Given the description of an element on the screen output the (x, y) to click on. 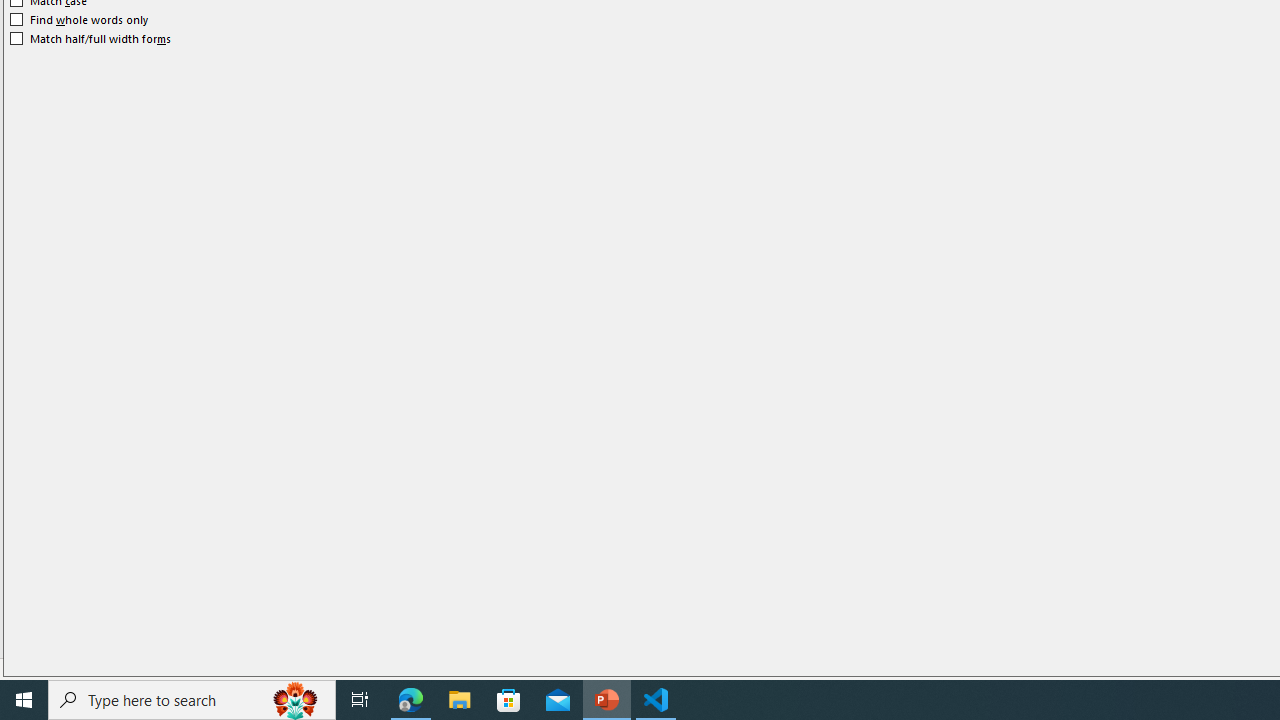
Find whole words only (79, 20)
Match half/full width forms (91, 38)
